Given the description of an element on the screen output the (x, y) to click on. 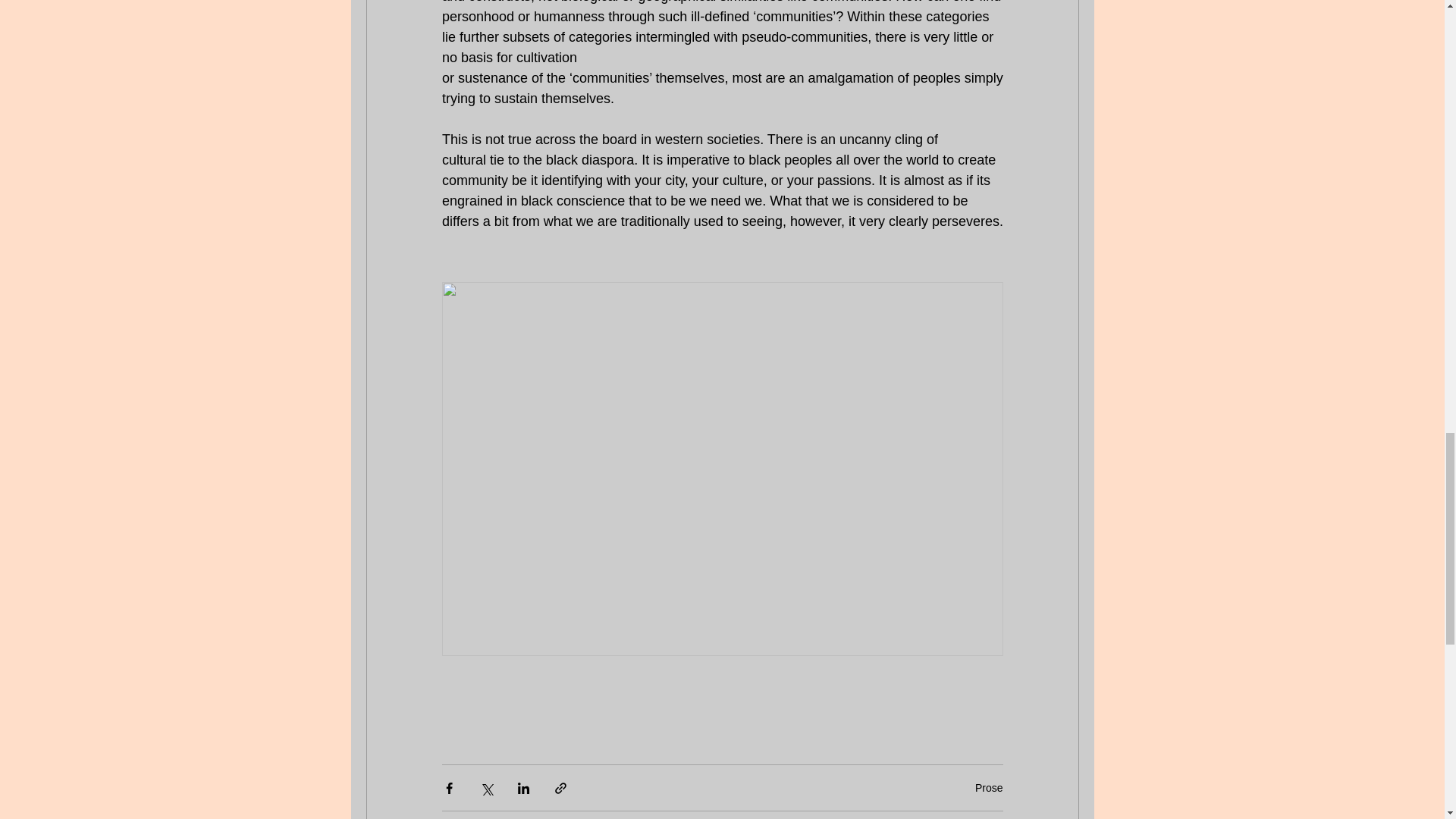
Prose (989, 787)
